Given the description of an element on the screen output the (x, y) to click on. 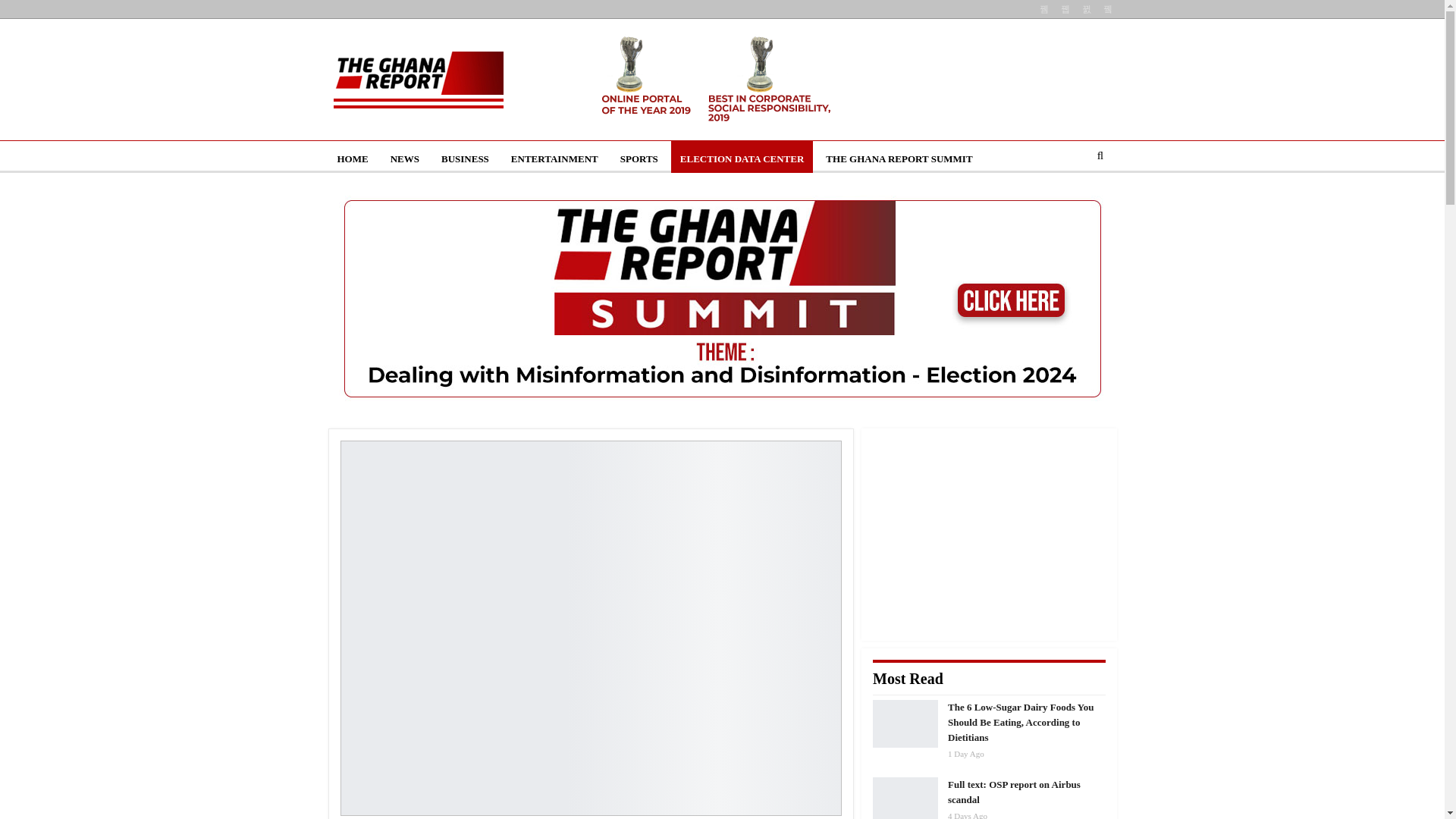
ELECTION DATA CENTER (742, 158)
Full text: OSP report on Airbus scandal (904, 798)
ENTERTAINMENT (554, 158)
HOME (352, 158)
THE GHANA REPORT SUMMIT (898, 158)
NEWS (404, 158)
SPORTS (638, 158)
BUSINESS (464, 158)
